Given the description of an element on the screen output the (x, y) to click on. 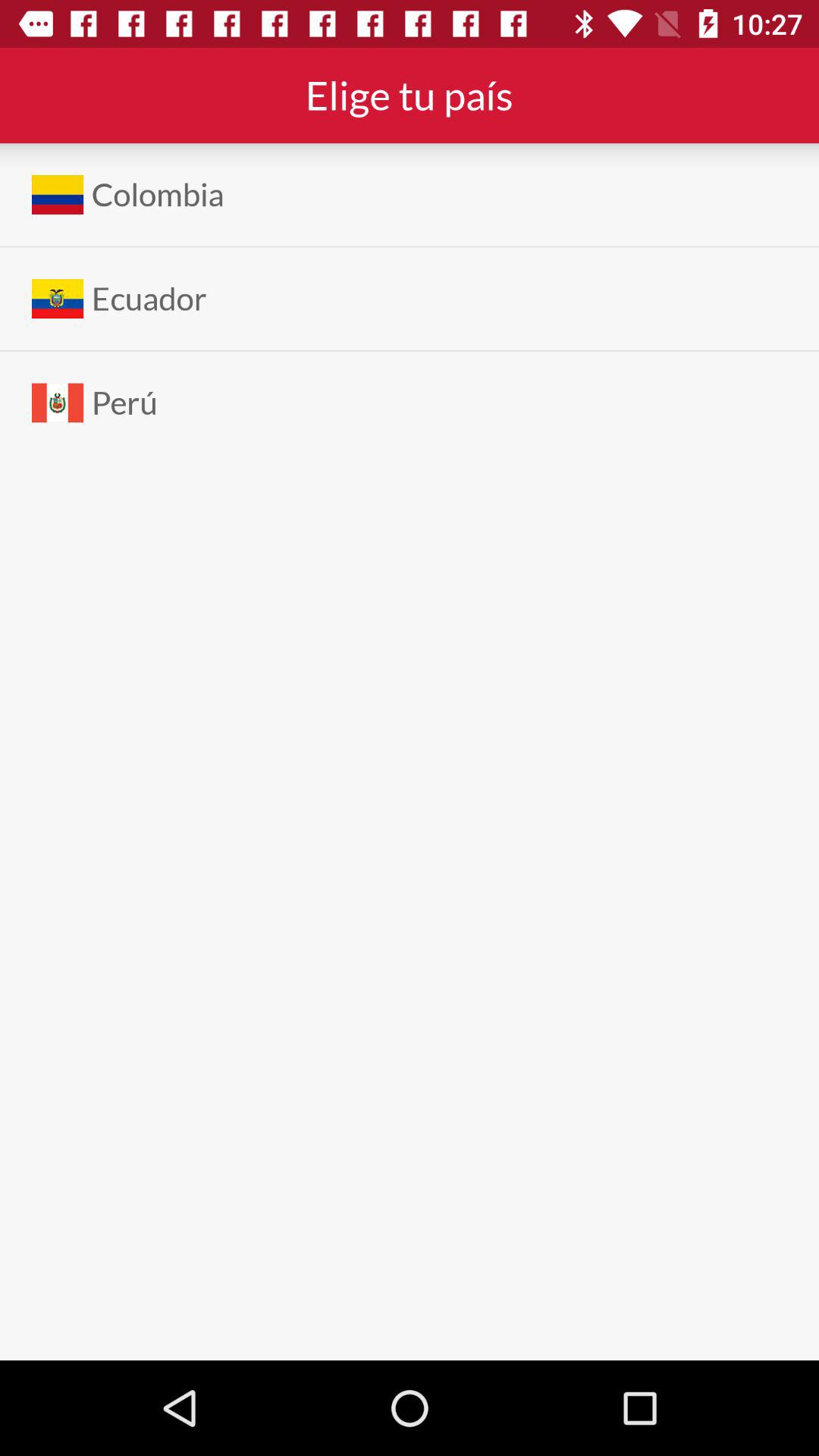
flip until the ecuador app (149, 298)
